Given the description of an element on the screen output the (x, y) to click on. 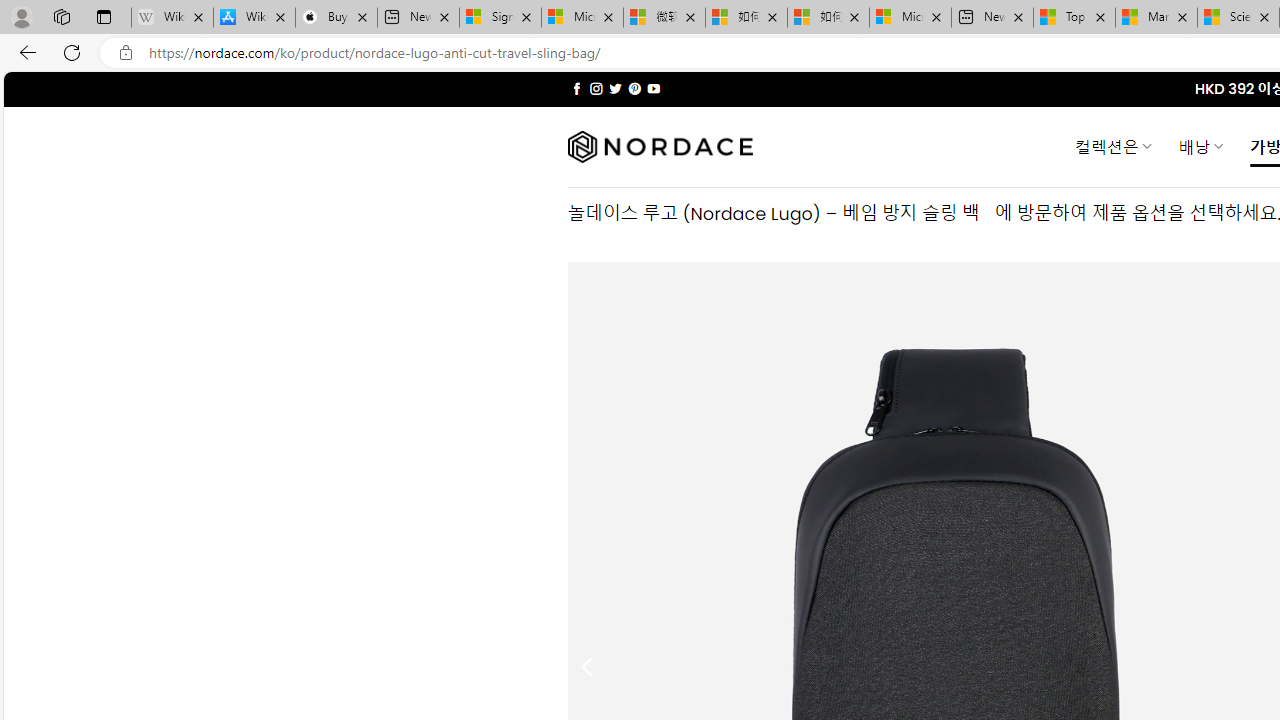
Buy iPad - Apple (336, 17)
Follow on Twitter (615, 88)
Follow on Facebook (576, 88)
Follow on Pinterest (634, 88)
Microsoft Services Agreement (582, 17)
Follow on Instagram (596, 88)
Microsoft account | Account Checkup (910, 17)
